Given the description of an element on the screen output the (x, y) to click on. 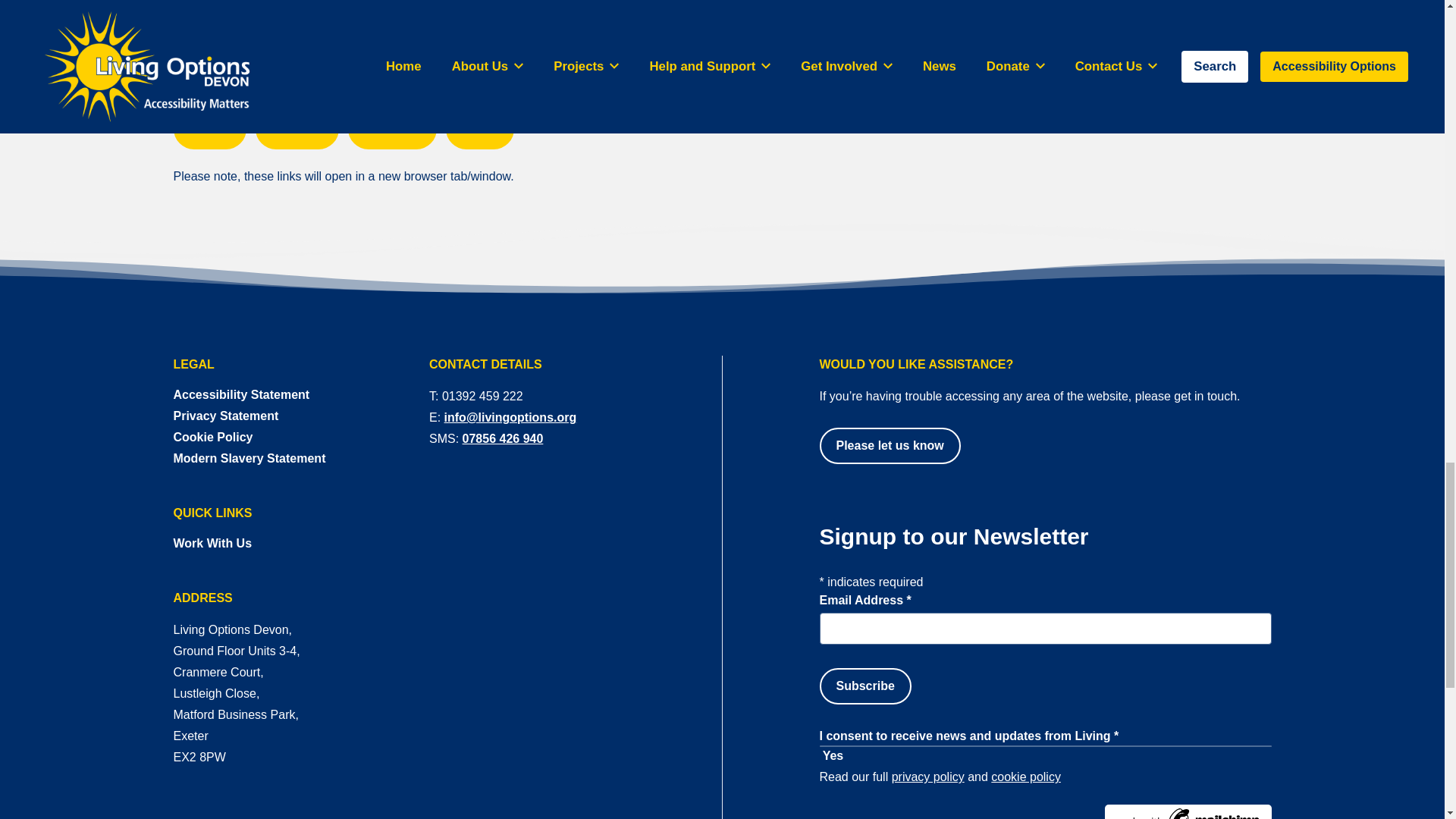
Mailchimp - email marketing made easy and fun (1044, 811)
Subscribe (864, 686)
